Given the description of an element on the screen output the (x, y) to click on. 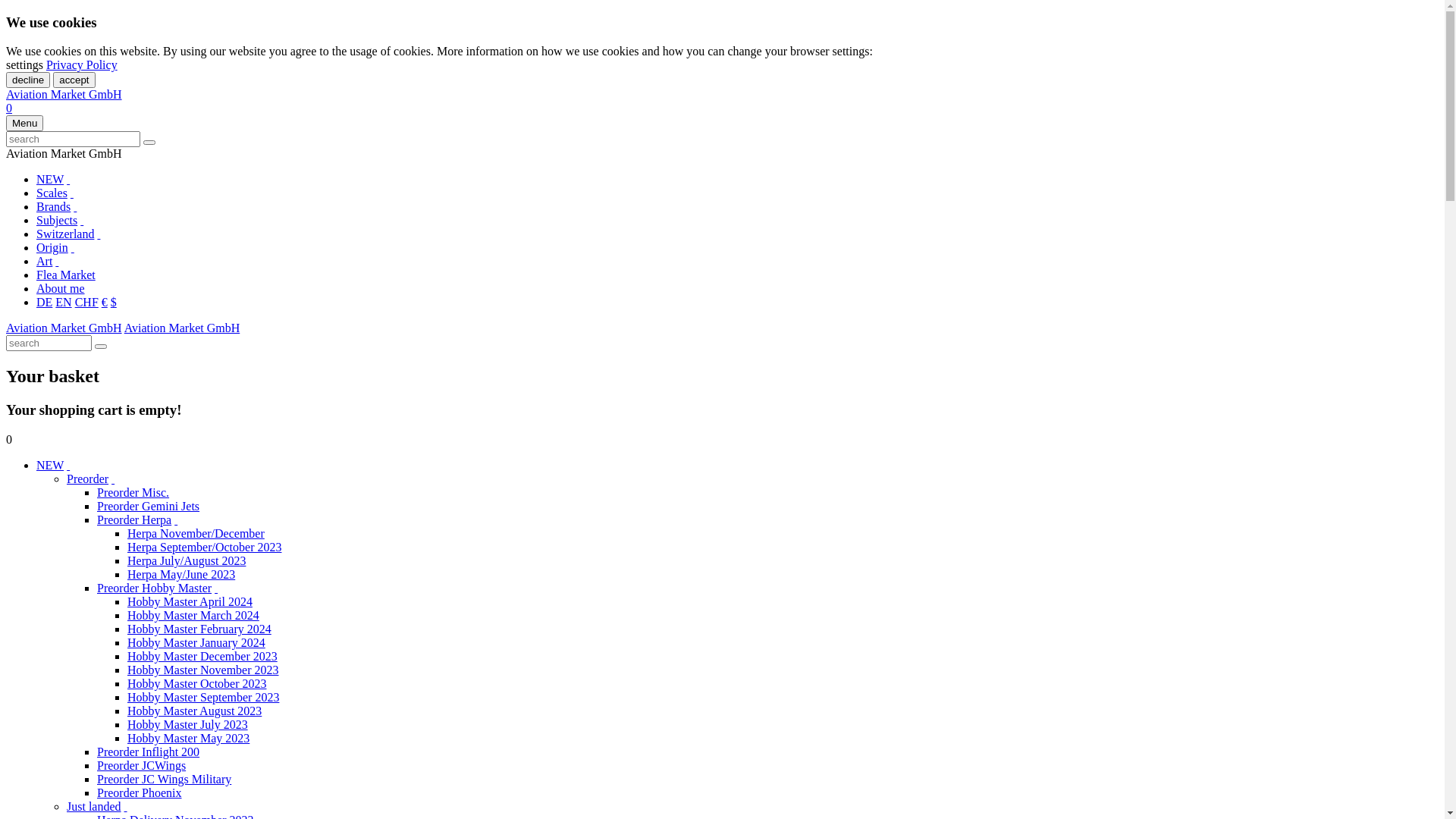
  Element type: text (175, 519)
Hobby Master May 2023 Element type: text (188, 737)
Preorder Misc. Element type: text (133, 492)
Privacy Policy Element type: text (81, 64)
Brands Element type: text (53, 206)
accept Element type: text (73, 79)
Aviation Market GmbH Element type: text (64, 327)
EN Element type: text (63, 301)
$ Element type: text (113, 301)
  Element type: text (67, 178)
  Element type: text (67, 464)
Hobby Master September 2023 Element type: text (203, 696)
settings Element type: text (24, 64)
Art Element type: text (44, 260)
Hobby Master October 2023 Element type: text (196, 683)
Herpa November/December Element type: text (195, 533)
Preorder JC Wings Military Element type: text (164, 778)
Herpa September/October 2023 Element type: text (204, 546)
  Element type: text (56, 260)
Aviation Market GmbH Element type: text (64, 93)
Preorder JCWings Element type: text (141, 765)
DE Element type: text (44, 301)
0 Element type: text (9, 107)
NEW Element type: text (49, 178)
Menu Element type: text (24, 123)
Hobby Master April 2024 Element type: text (189, 601)
  Element type: text (71, 192)
Hobby Master August 2023 Element type: text (194, 710)
Preorder Element type: text (87, 478)
Flea Market Element type: text (65, 274)
Hobby Master February 2024 Element type: text (199, 628)
0 Element type: text (9, 439)
decline Element type: text (28, 79)
  Element type: text (98, 233)
Herpa July/August 2023 Element type: text (186, 560)
Hobby Master March 2024 Element type: text (193, 614)
Aviation Market GmbH Element type: text (182, 327)
CHF Element type: text (86, 301)
NEW Element type: text (49, 464)
  Element type: text (81, 219)
Preorder Hobby Master Element type: text (154, 587)
Preorder Inflight 200 Element type: text (148, 751)
Hobby Master November 2023 Element type: text (203, 669)
Origin Element type: text (52, 247)
Herpa May/June 2023 Element type: text (181, 573)
Switzerland Element type: text (65, 233)
Hobby Master December 2023 Element type: text (202, 655)
Preorder Phoenix Element type: text (139, 792)
  Element type: text (112, 478)
About me Element type: text (60, 288)
Scales Element type: text (51, 192)
  Element type: text (72, 247)
Preorder Herpa Element type: text (134, 519)
Subjects Element type: text (56, 219)
Hobby Master July 2023 Element type: text (187, 724)
Preorder Gemini Jets Element type: text (148, 505)
  Element type: text (215, 587)
Just landed Element type: text (93, 806)
  Element type: text (74, 206)
  Element type: text (125, 806)
Hobby Master January 2024 Element type: text (196, 642)
